Given the description of an element on the screen output the (x, y) to click on. 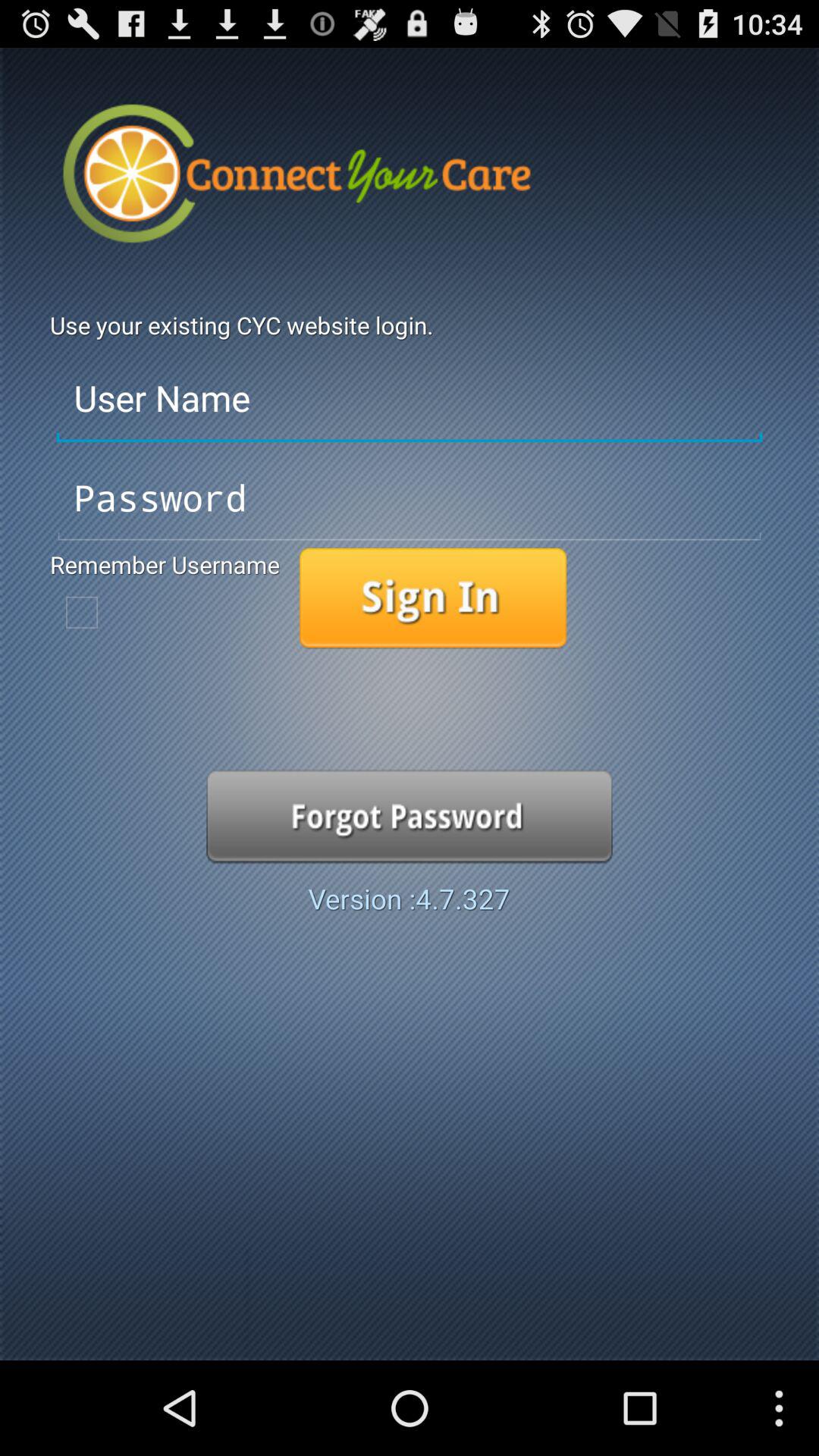
tap icon to the right of remember username (432, 598)
